Given the description of an element on the screen output the (x, y) to click on. 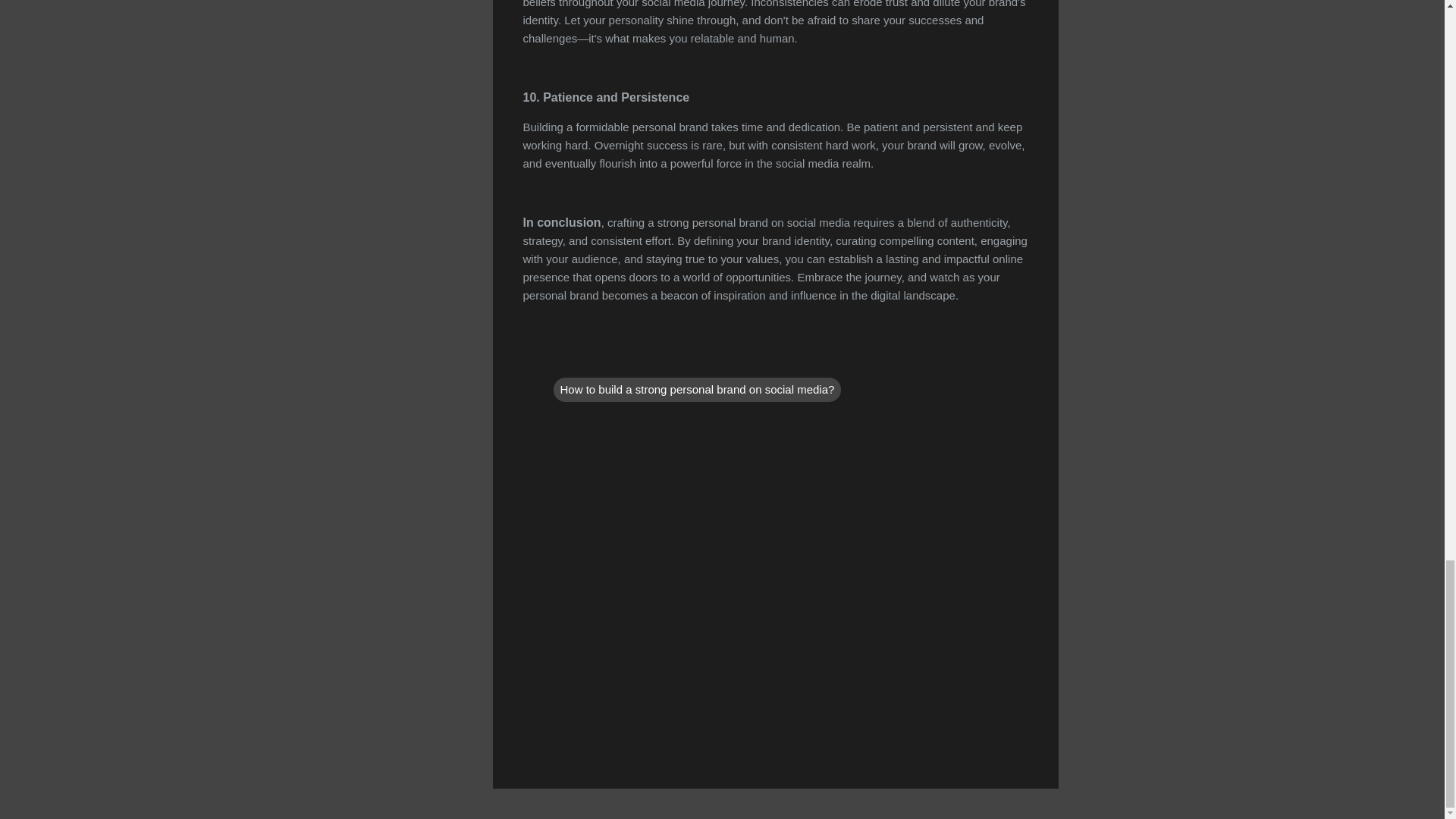
How to build a strong personal brand on social media? (697, 389)
Email Post (562, 358)
